Given the description of an element on the screen output the (x, y) to click on. 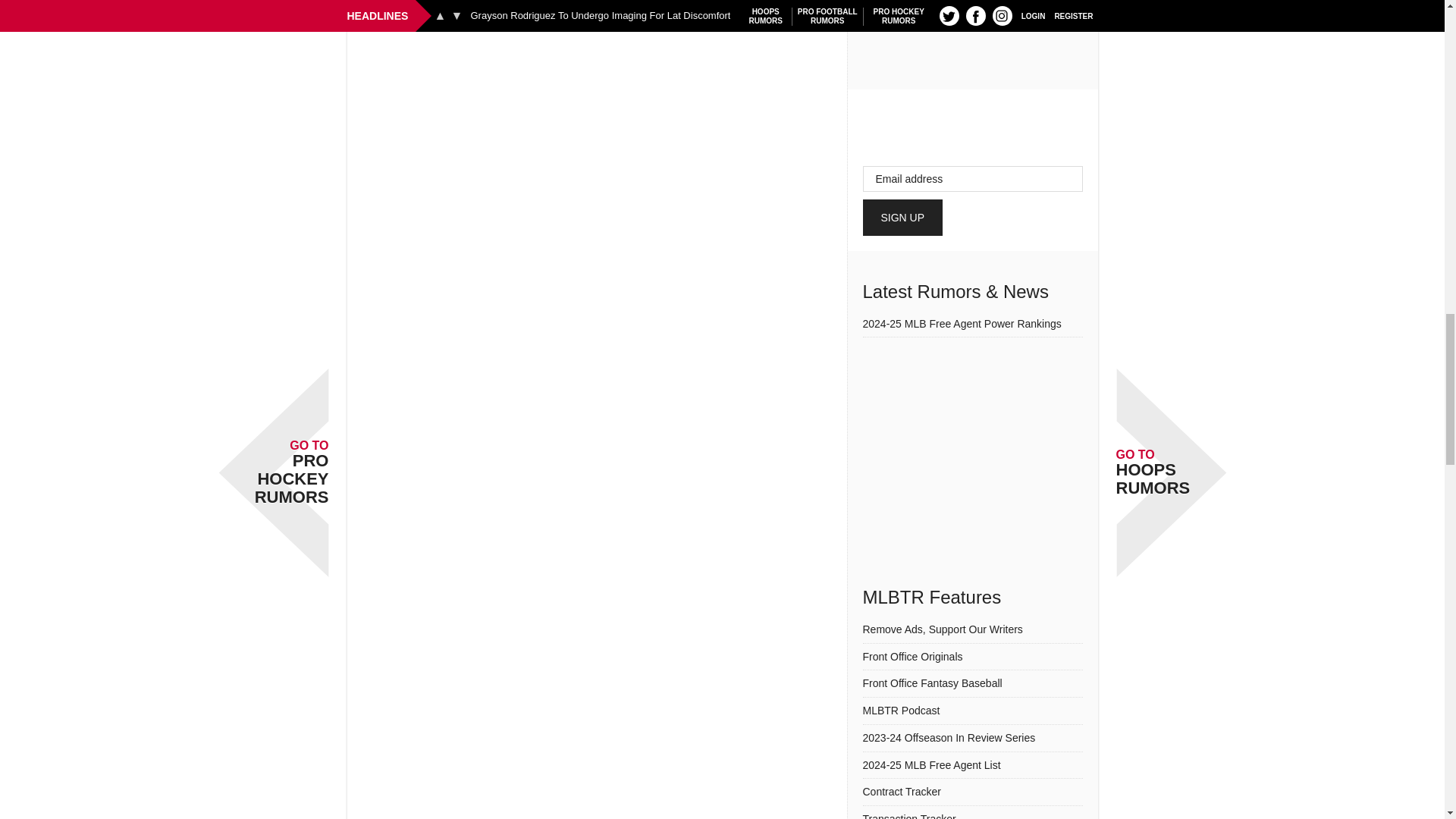
Sign Up (903, 217)
